Given the description of an element on the screen output the (x, y) to click on. 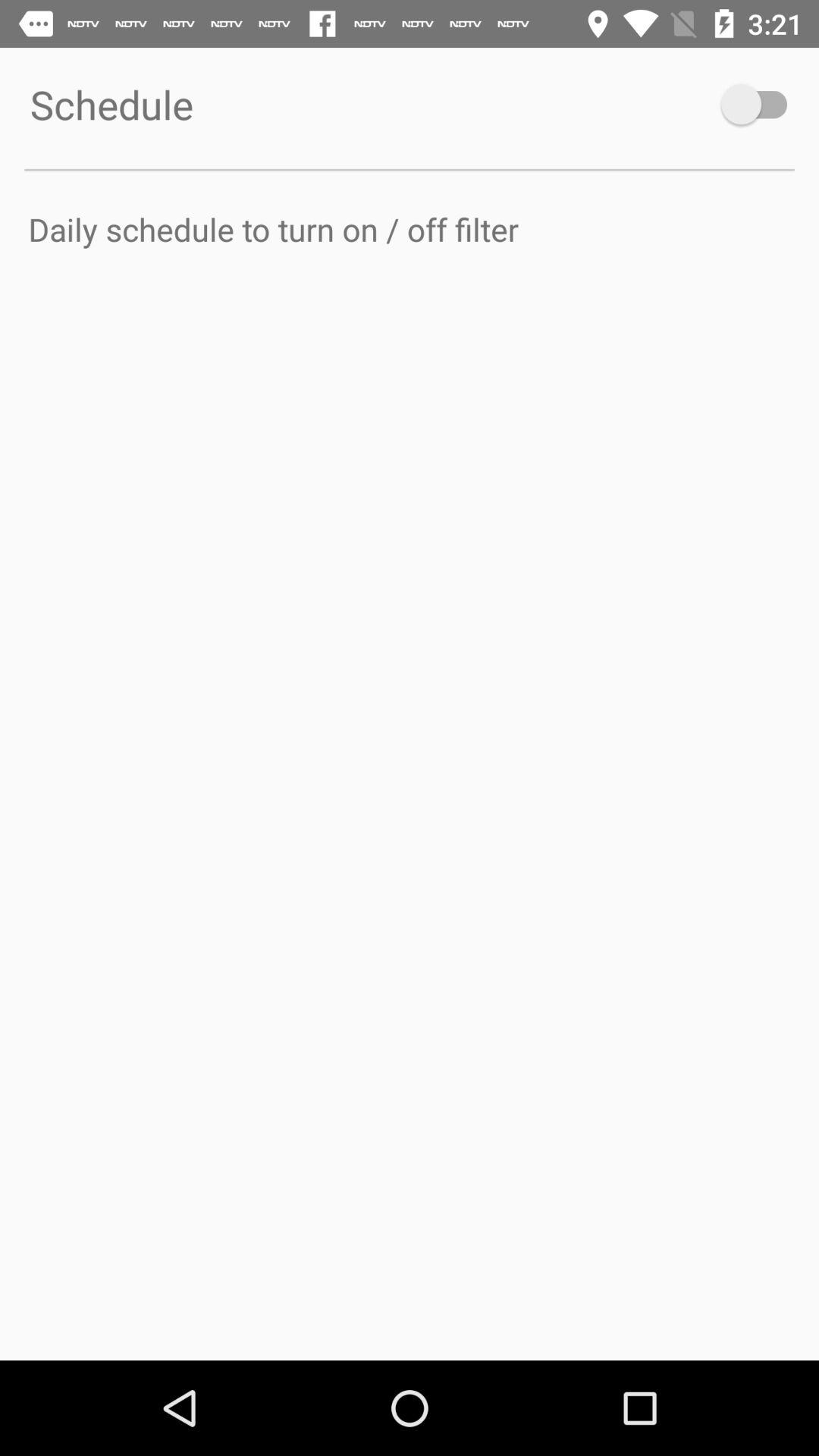
turn on schedule (761, 104)
